Given the description of an element on the screen output the (x, y) to click on. 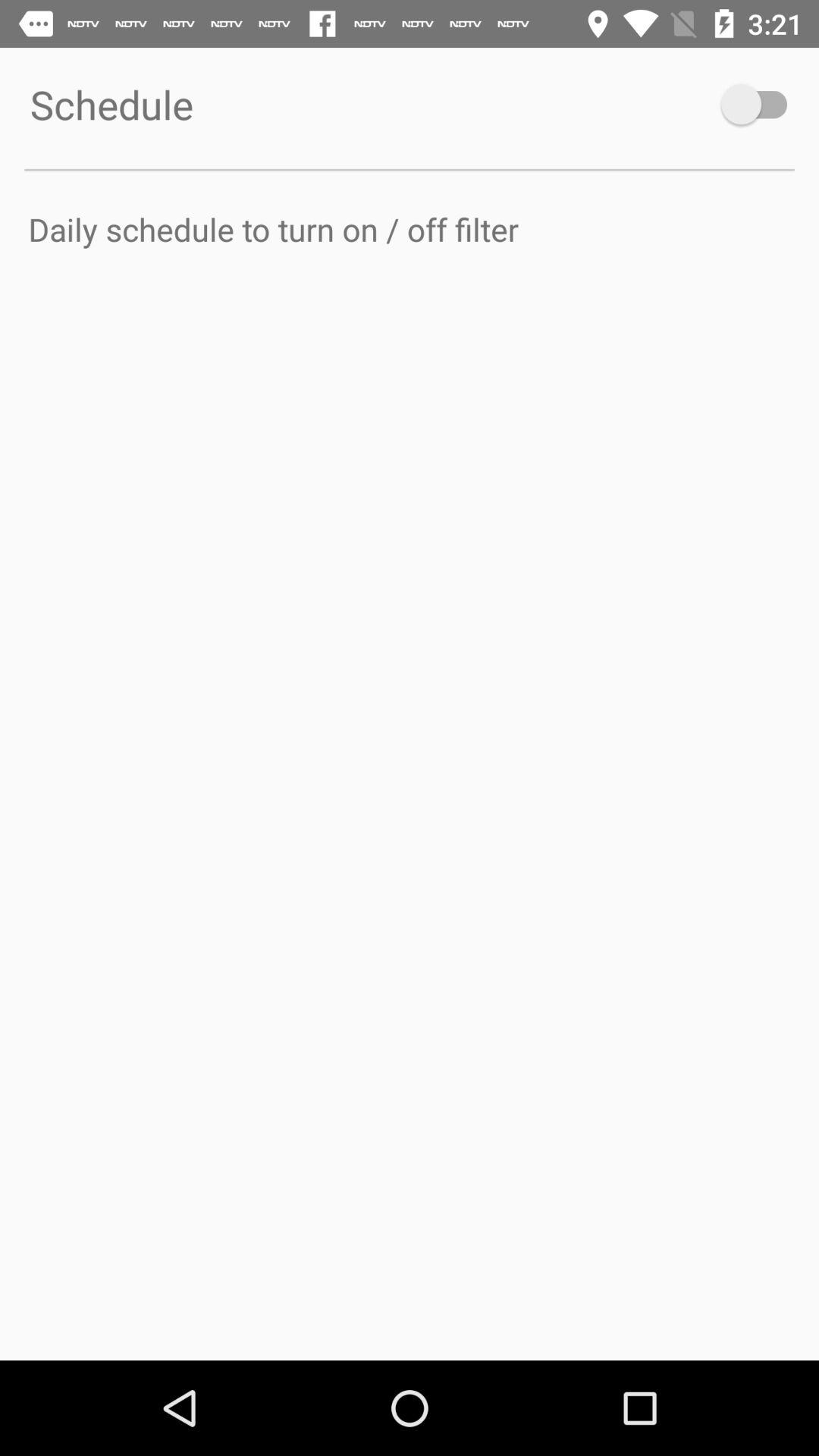
turn on schedule (761, 104)
